Given the description of an element on the screen output the (x, y) to click on. 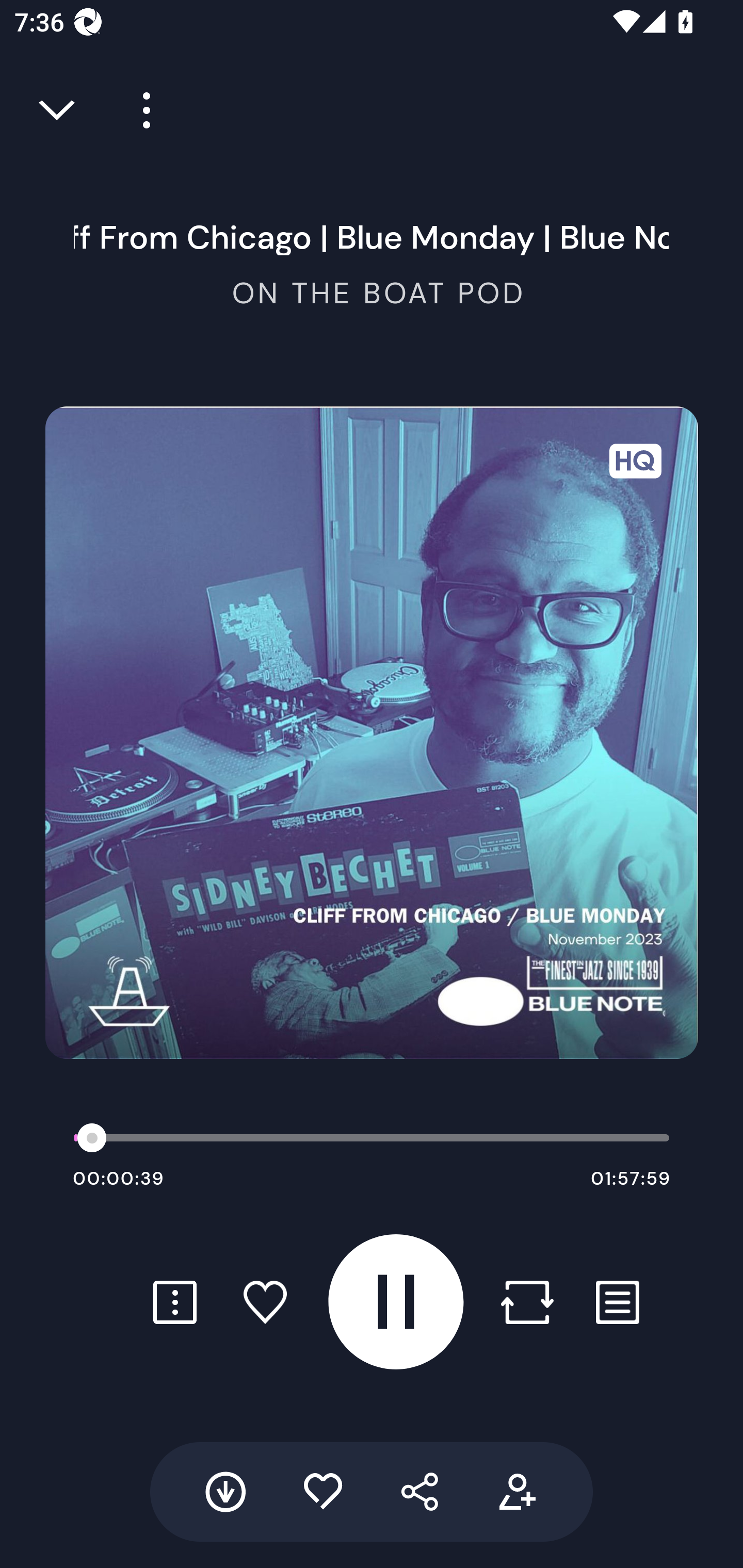
Close full player (58, 110)
Player more options button (139, 110)
Repost button (527, 1301)
